Given the description of an element on the screen output the (x, y) to click on. 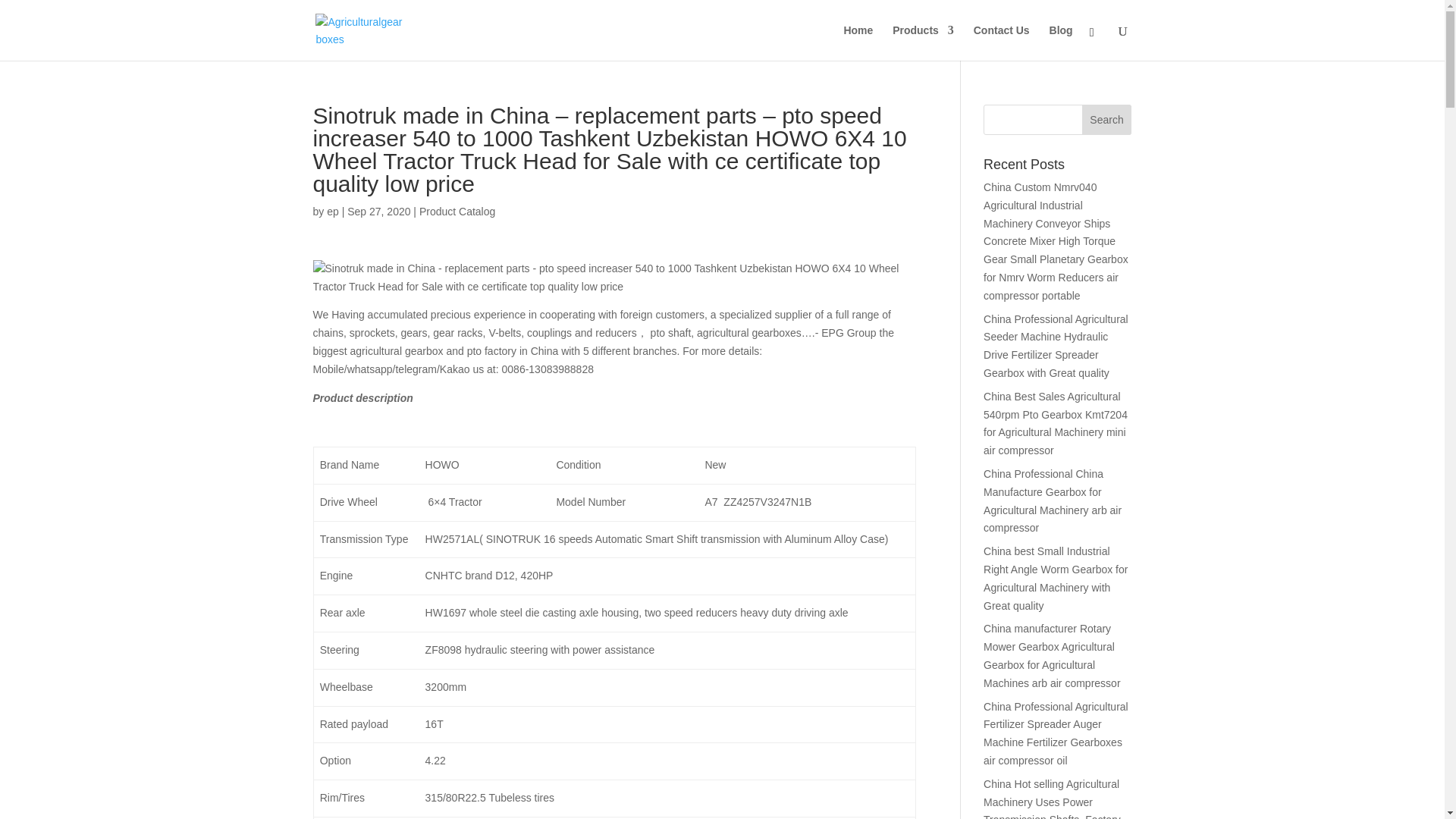
Search (1106, 119)
Search (1106, 119)
Posts by ep (332, 211)
Contact Us (1001, 42)
